Given the description of an element on the screen output the (x, y) to click on. 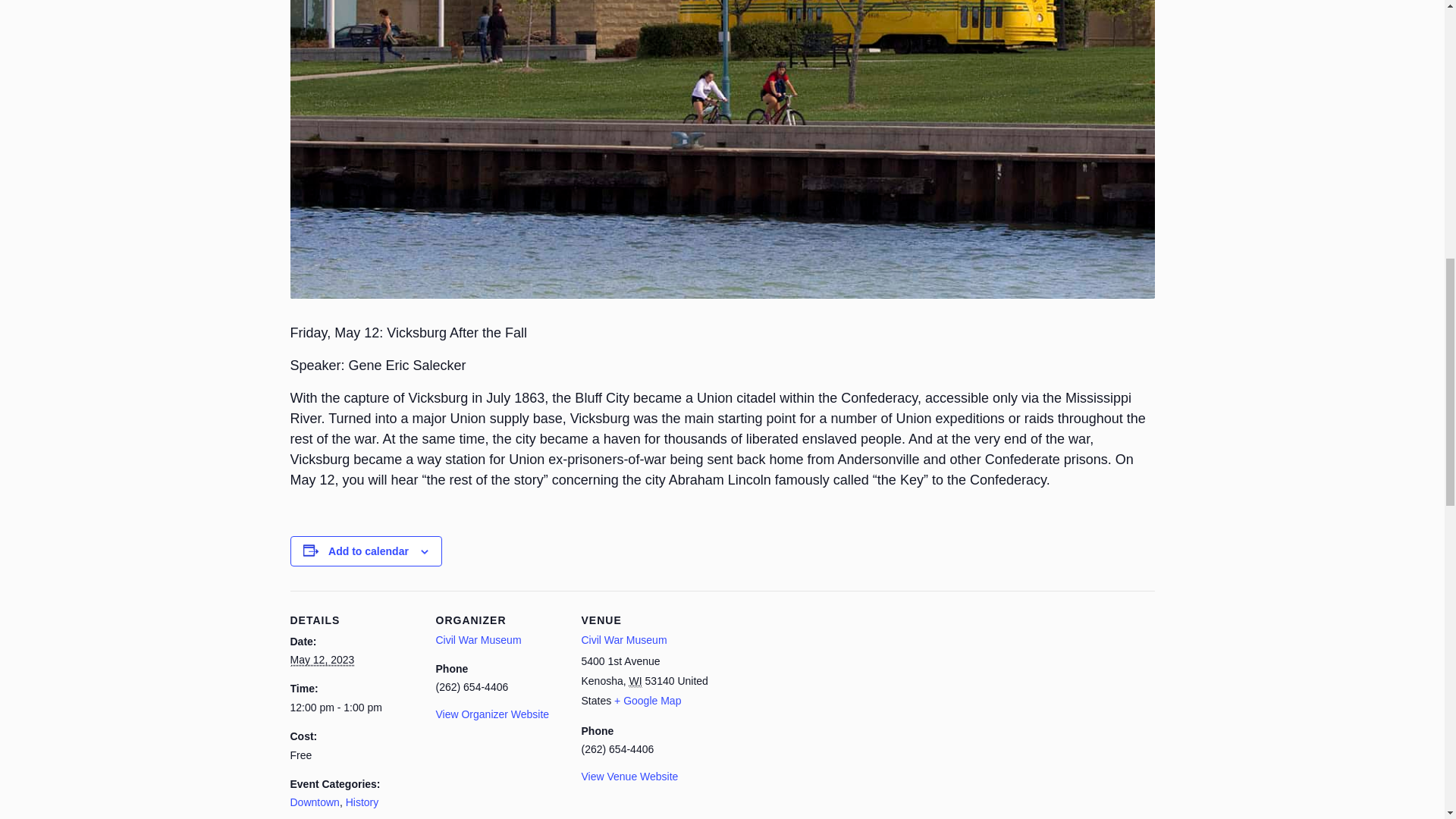
2023-05-12 (352, 708)
Civil War Museum (478, 639)
Wisconsin (635, 680)
Click to view a Google Map (647, 700)
Chamber Pop-up Biergarten (290, 778)
2023-05-12 (321, 659)
